Given the description of an element on the screen output the (x, y) to click on. 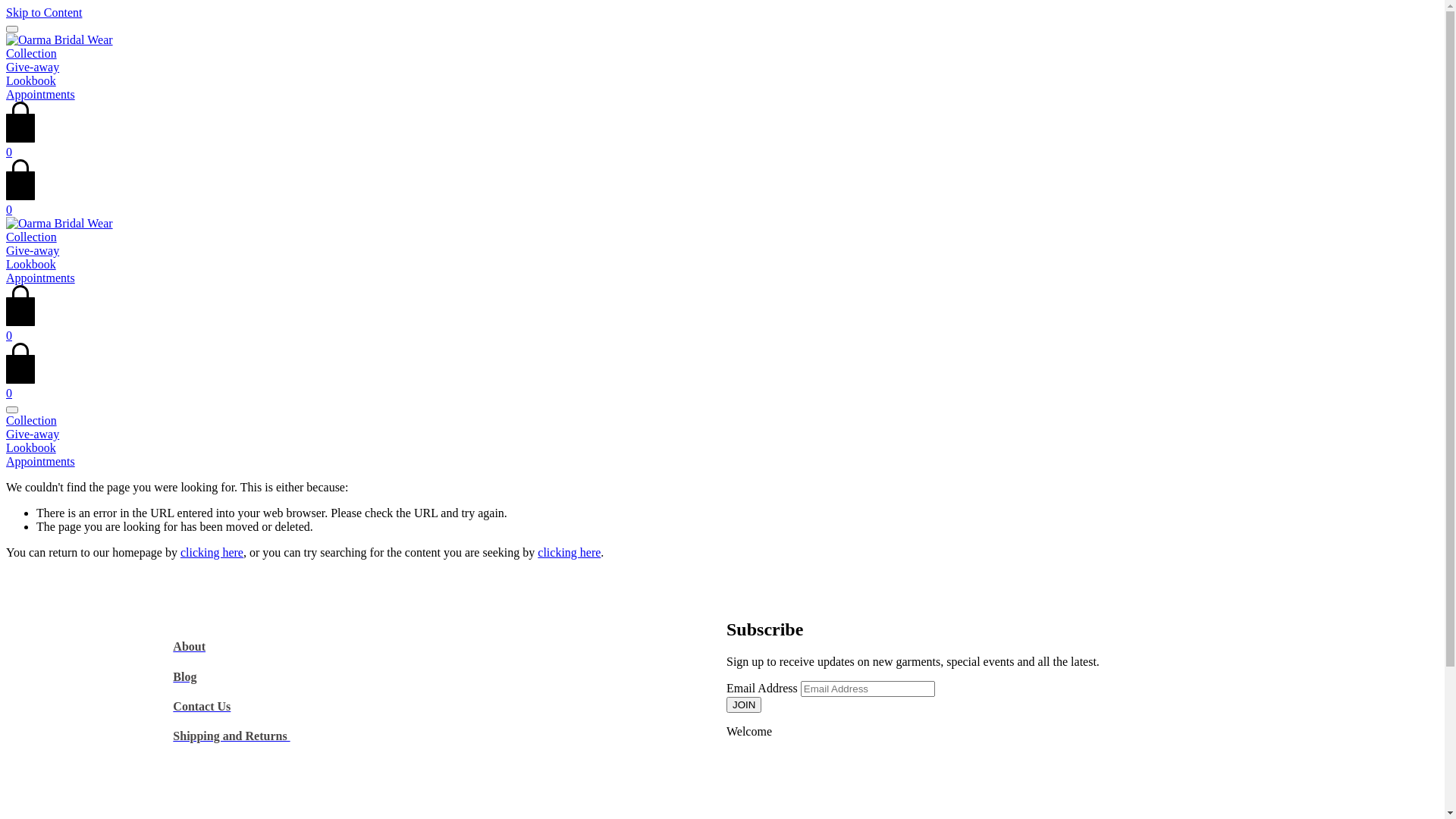
0 Element type: text (722, 386)
Skip to Content Element type: text (43, 12)
0 Element type: text (722, 328)
Blog Element type: text (184, 676)
Contact Us Element type: text (201, 705)
Lookbook Element type: text (31, 263)
0 Element type: text (722, 202)
Lookbook Element type: text (31, 80)
Collection Element type: text (31, 236)
Appointments Element type: text (40, 277)
clicking here Element type: text (568, 552)
Shipping and Returns  Element type: text (230, 735)
Collection Element type: text (722, 420)
Give-away Element type: text (32, 66)
Give-away Element type: text (722, 434)
clicking here Element type: text (211, 552)
Lookbook Element type: text (722, 448)
Collection Element type: text (31, 53)
0 Element type: text (722, 145)
Give-away Element type: text (32, 250)
JOIN Element type: text (743, 704)
Appointments Element type: text (40, 93)
Appointments Element type: text (722, 461)
About Element type: text (188, 646)
